Given the description of an element on the screen output the (x, y) to click on. 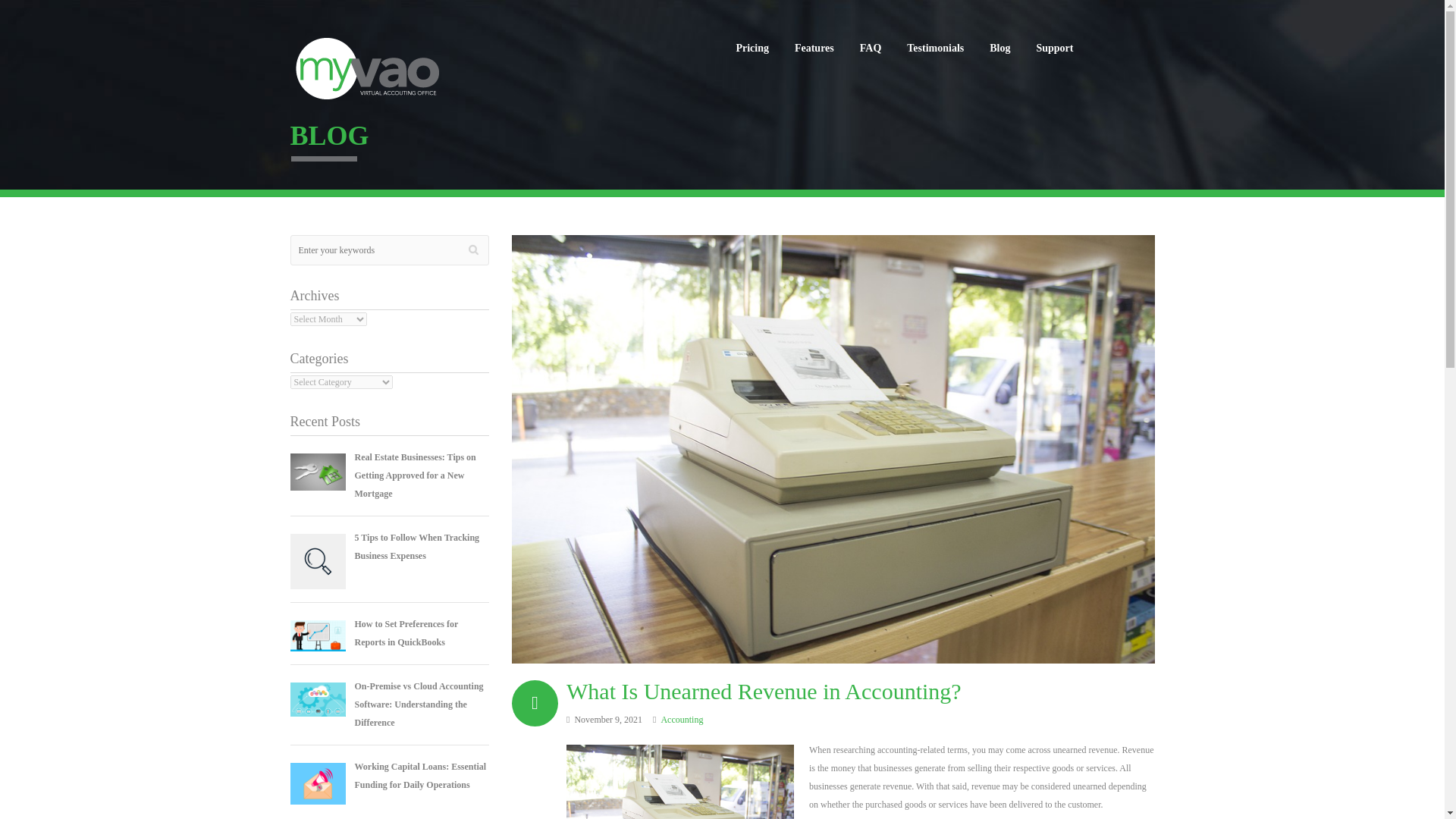
How to Set Preferences for Reports in QuickBooks (406, 633)
Testimonials (935, 48)
5 Tips to Follow When Tracking Business Expenses (417, 546)
Blog (1000, 48)
What Is Unearned Revenue in Accounting? (763, 690)
Features (814, 48)
Search for: (389, 250)
Accounting (682, 719)
Support (1054, 48)
FAQ (870, 48)
Pricing (751, 48)
